Given the description of an element on the screen output the (x, y) to click on. 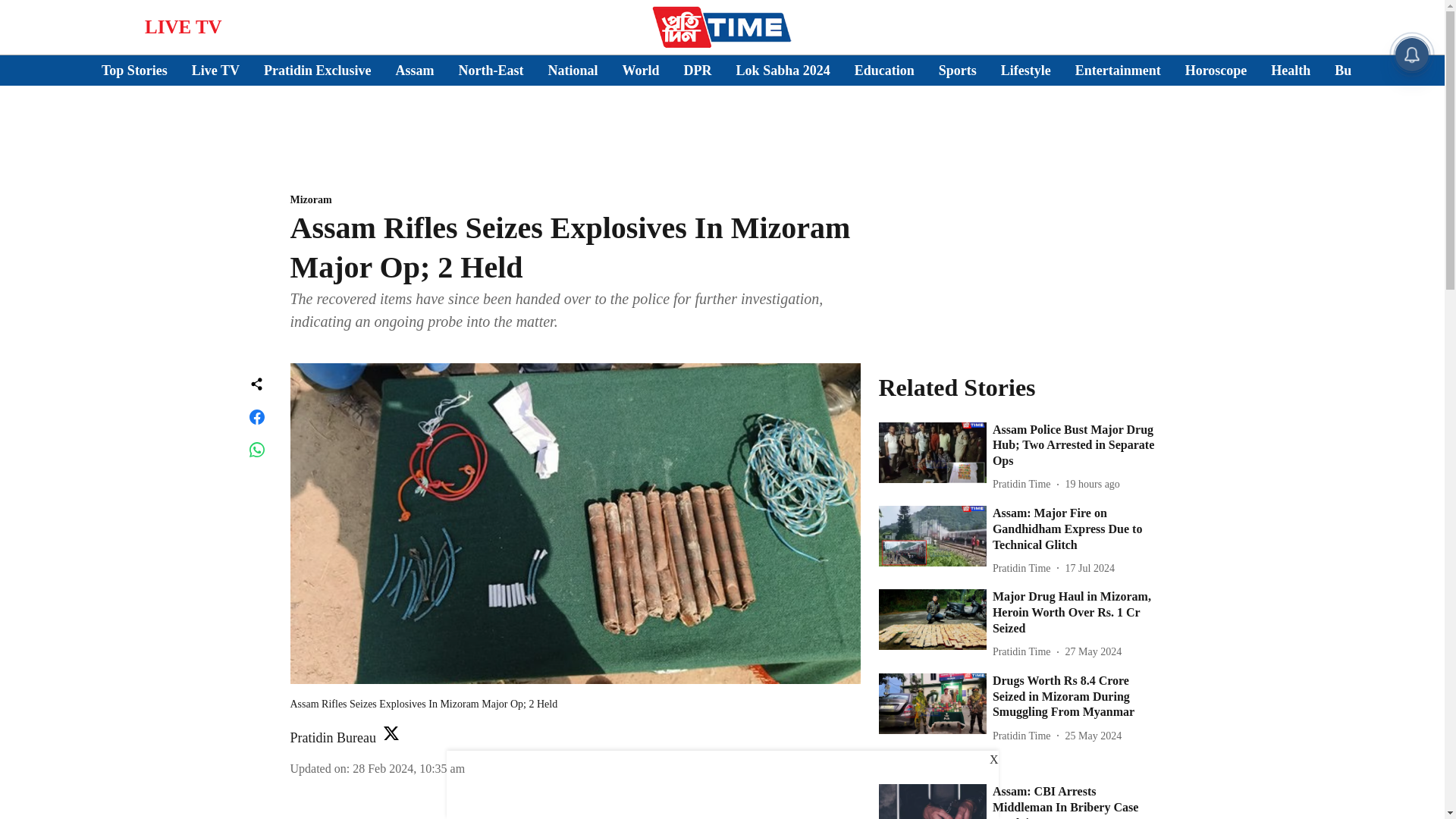
Pratidin Exclusive (317, 70)
Pratidin Bureau (332, 737)
Education (884, 70)
DPR (697, 70)
Sports (957, 70)
Assam (414, 70)
National (573, 70)
World (641, 70)
Lok Sabha 2024 (782, 70)
2024-07-17 10:37 (1090, 568)
Horoscope (1216, 70)
2024-07-22 10:35 (1092, 483)
Health (1290, 70)
Business (1359, 70)
Live TV (216, 70)
